Given the description of an element on the screen output the (x, y) to click on. 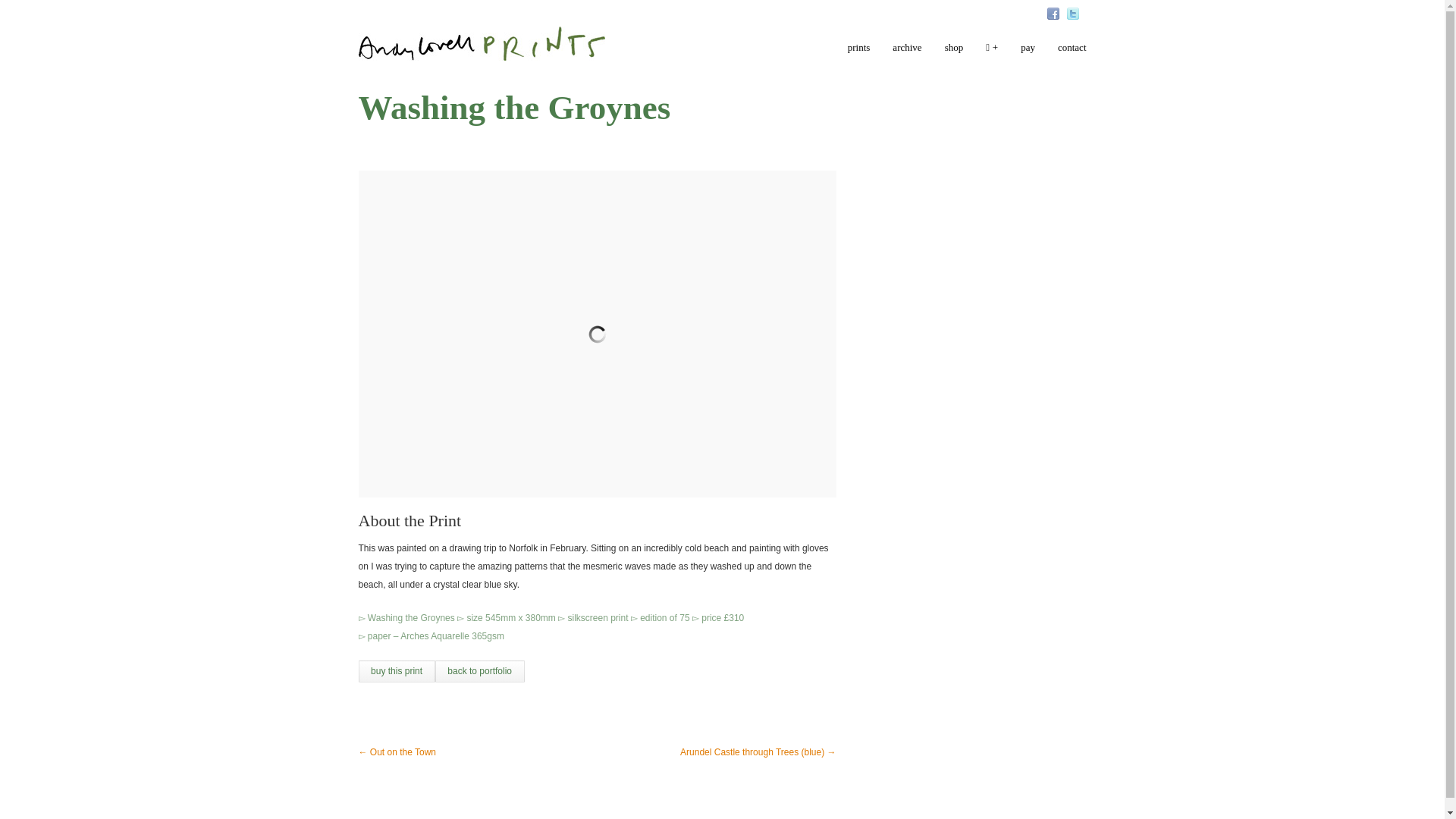
archive (906, 53)
shop (954, 53)
follow me on Twitter (1071, 13)
prints (858, 53)
contact (1071, 53)
back to portfolio (479, 670)
follow me on Facebook (1052, 13)
buy this print (395, 670)
